Given the description of an element on the screen output the (x, y) to click on. 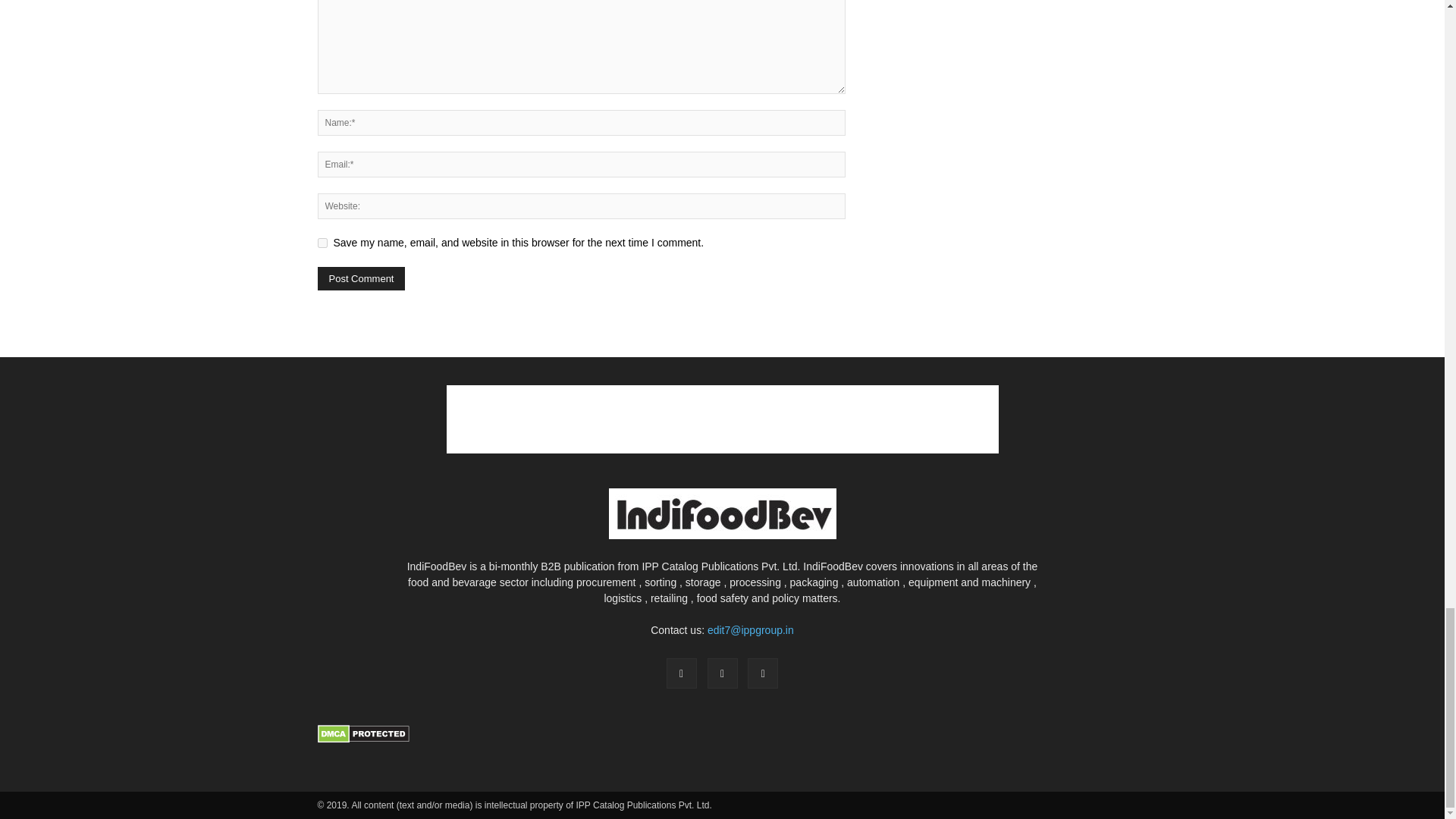
Post Comment (360, 278)
yes (321, 243)
